Given the description of an element on the screen output the (x, y) to click on. 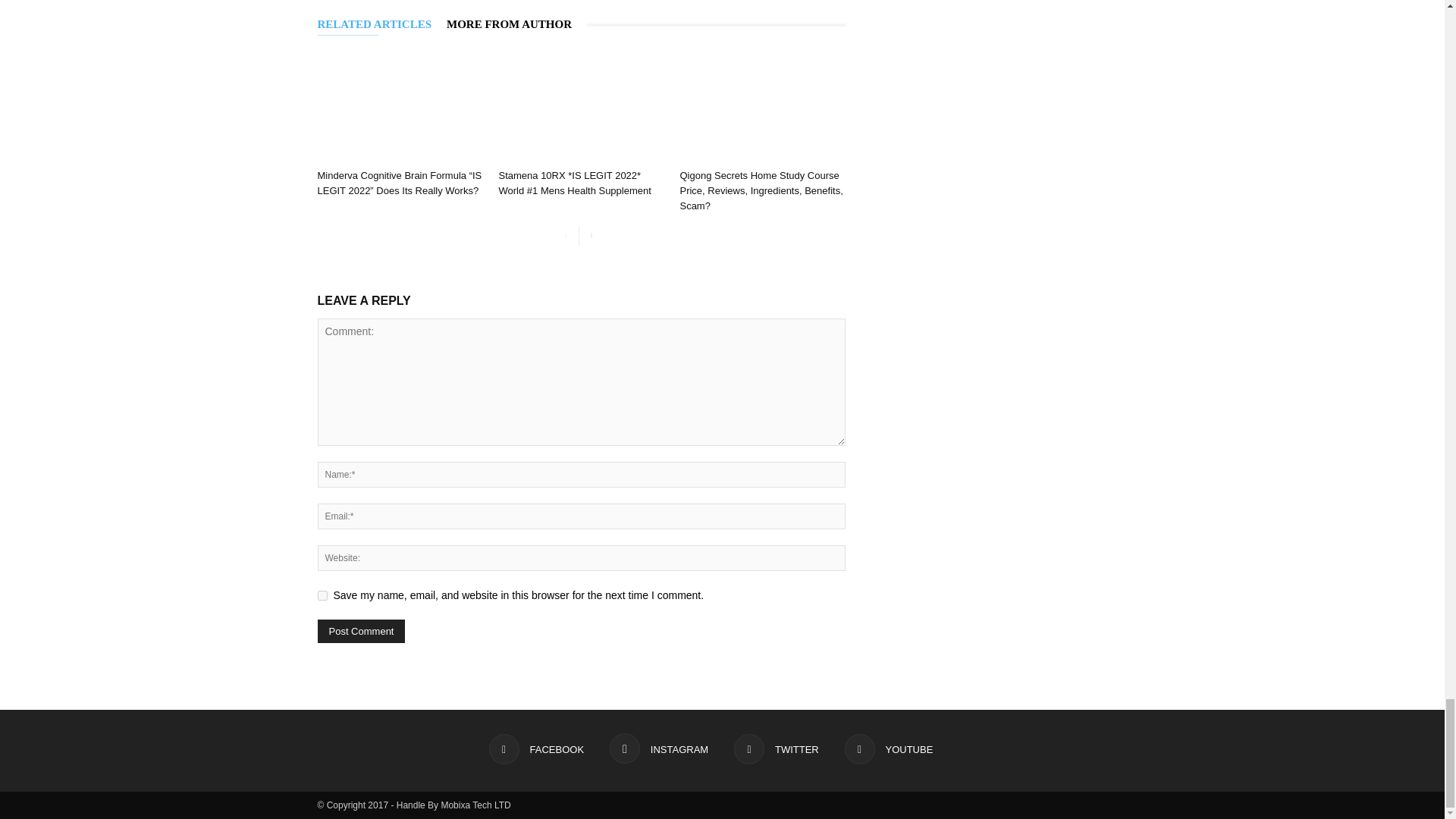
Post Comment (360, 630)
yes (321, 595)
